Given the description of an element on the screen output the (x, y) to click on. 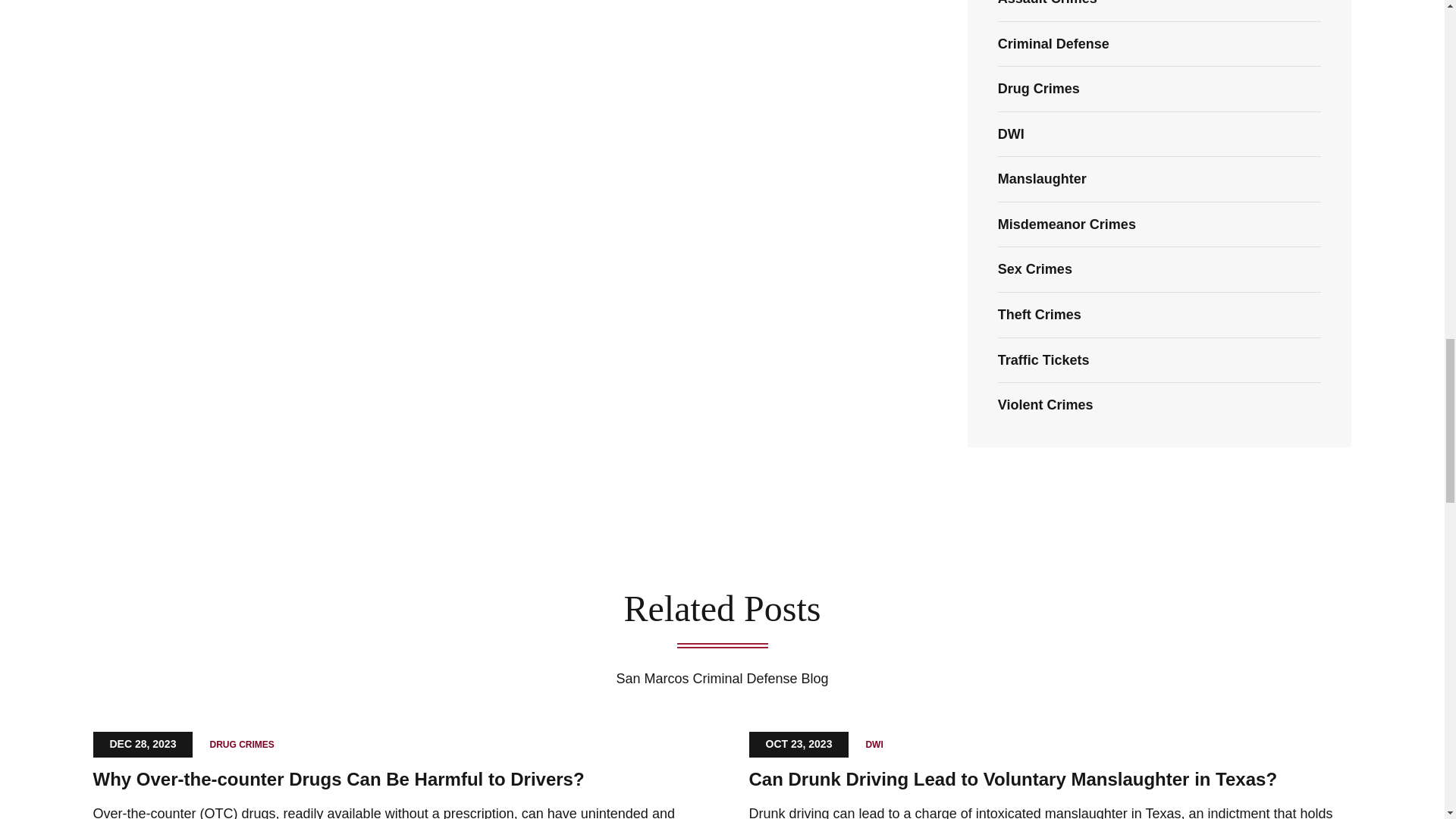
Criminal Defense (1053, 43)
Sex Crimes (1034, 268)
Manslaughter (1041, 178)
Theft Crimes (1039, 314)
Drug Crimes (1038, 88)
DWI (1011, 133)
Misdemeanor Crimes (1066, 224)
Traffic Tickets (1043, 359)
Assault Crimes (1047, 2)
